Given the description of an element on the screen output the (x, y) to click on. 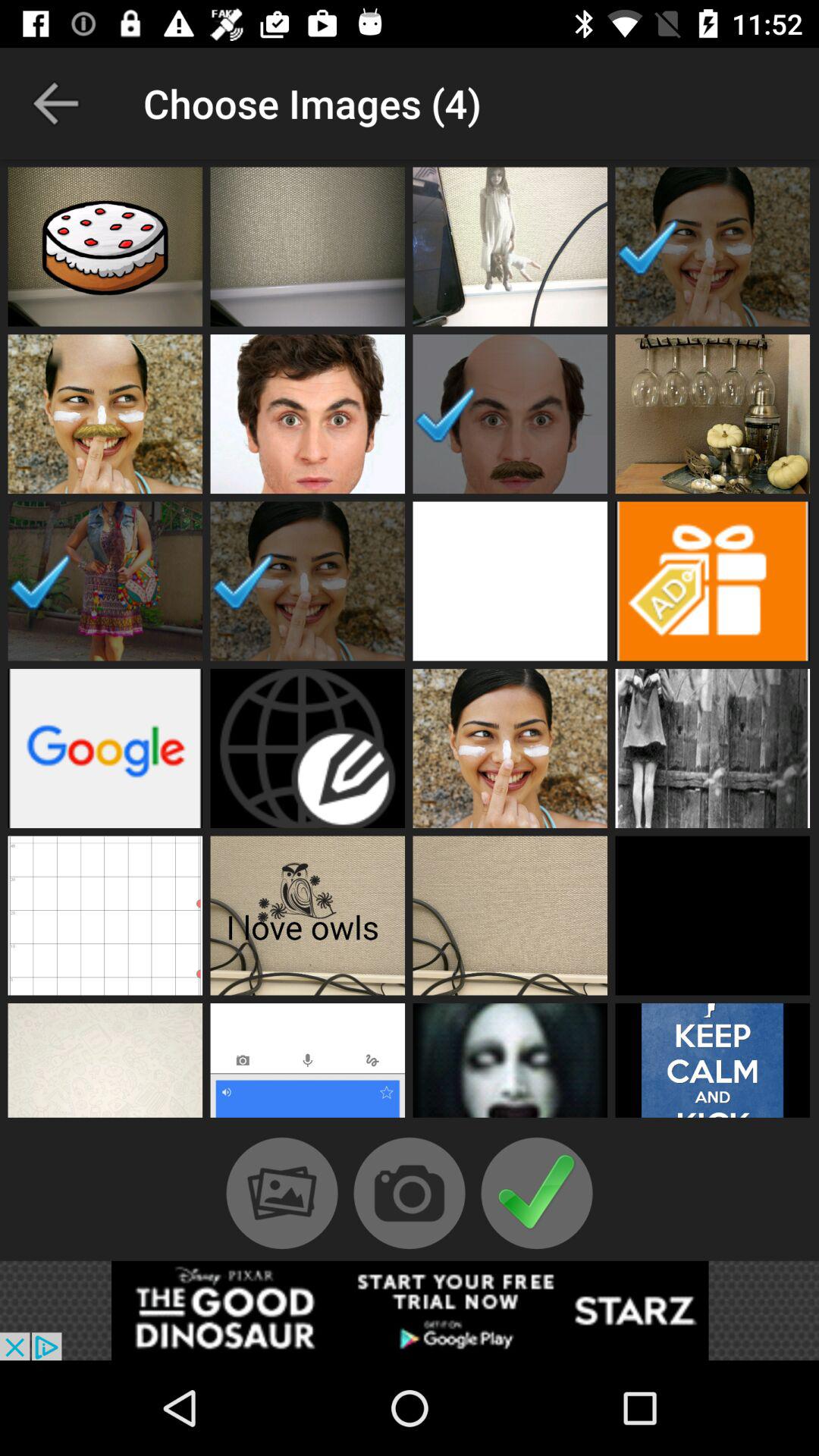
click on face with white cheek lines (104, 413)
